Given the description of an element on the screen output the (x, y) to click on. 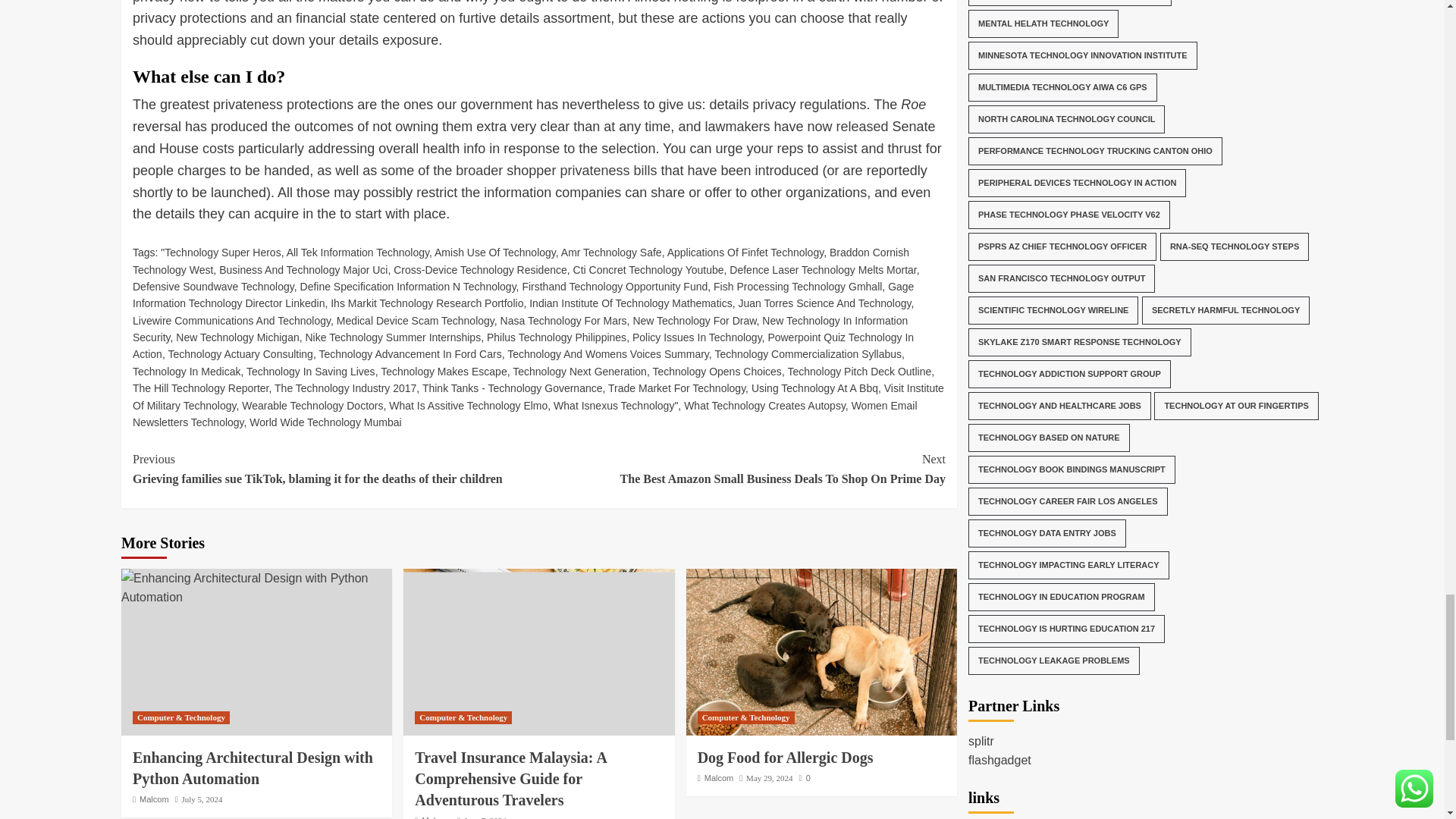
Dog Food for Allergic Dogs (820, 651)
Enhancing Architectural Design with Python Automation (255, 587)
